Given the description of an element on the screen output the (x, y) to click on. 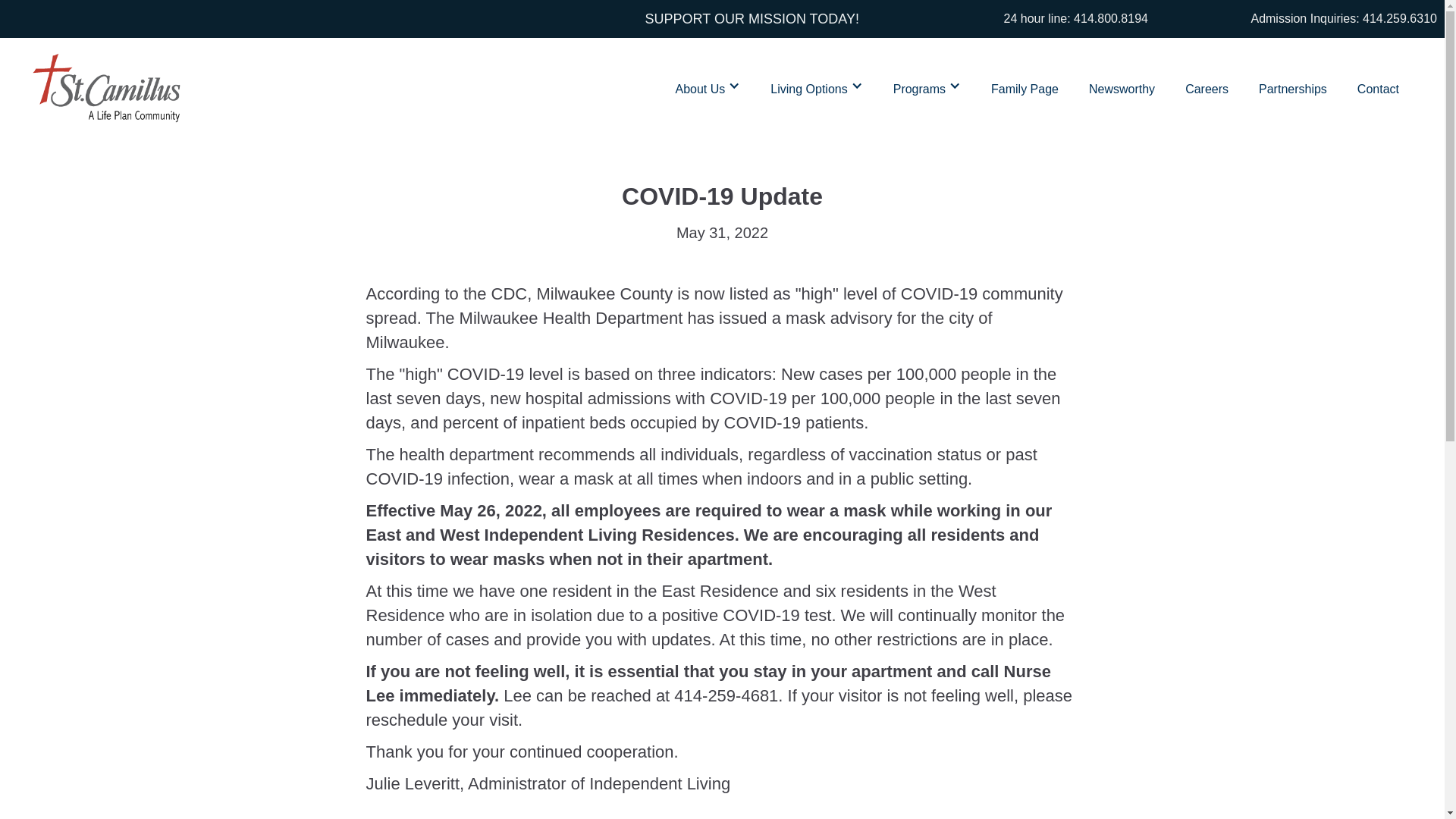
Partnerships (1292, 85)
Family Page (1024, 85)
Contact (1377, 85)
Newsworthy (1122, 85)
SUPPORT OUR MISSION TODAY! (1008, 70)
SUPPORT OUR MISSION TODAY! (752, 18)
Careers (1206, 85)
